Given the description of an element on the screen output the (x, y) to click on. 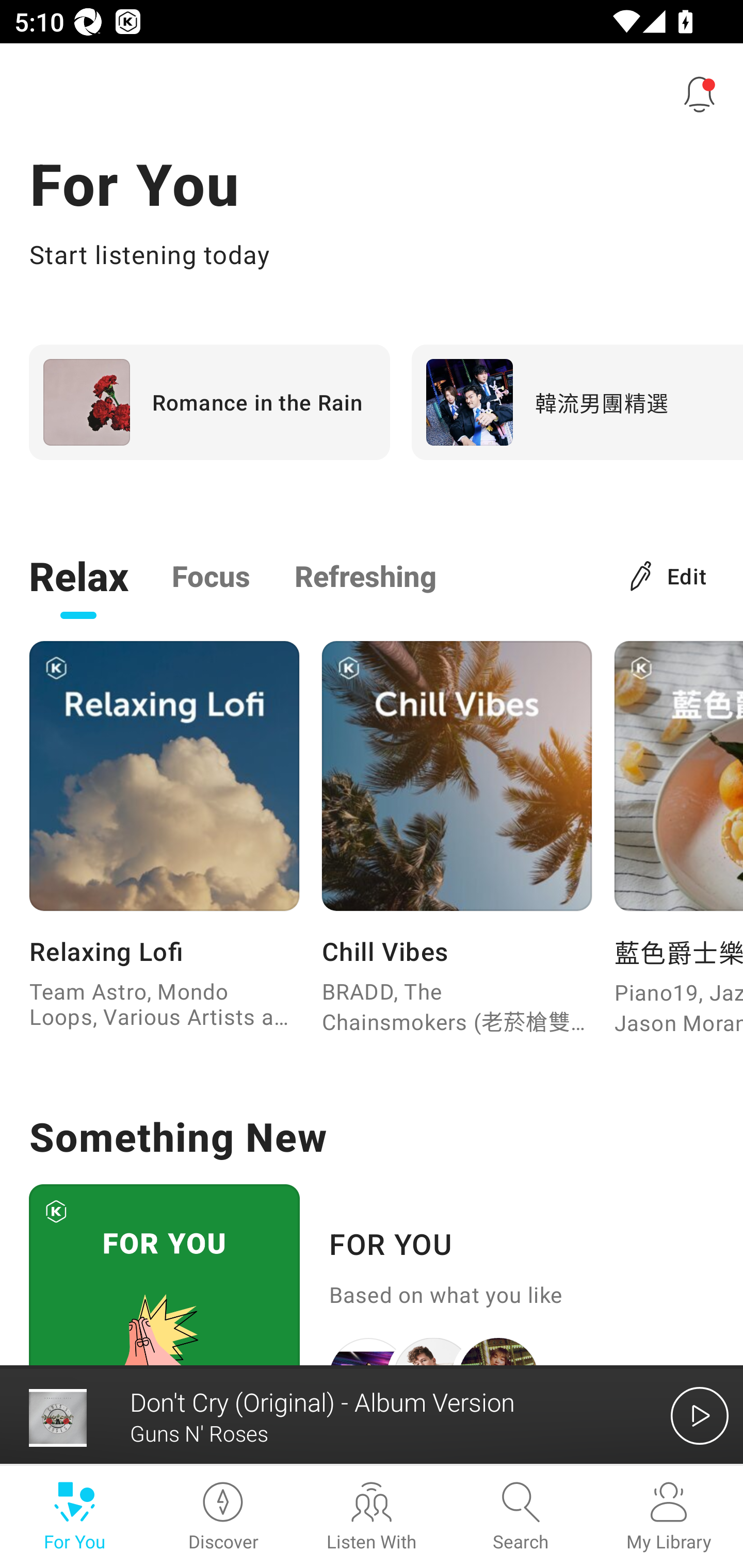
Notification (699, 93)
view_image Romance in the Rain (209, 401)
view_image 韓流男團精選 (577, 401)
Focus (211, 575)
Refreshing (365, 575)
Edit (668, 575)
開始播放 (699, 1415)
For You (74, 1517)
Discover (222, 1517)
Listen With (371, 1517)
Search (519, 1517)
My Library (668, 1517)
